Given the description of an element on the screen output the (x, y) to click on. 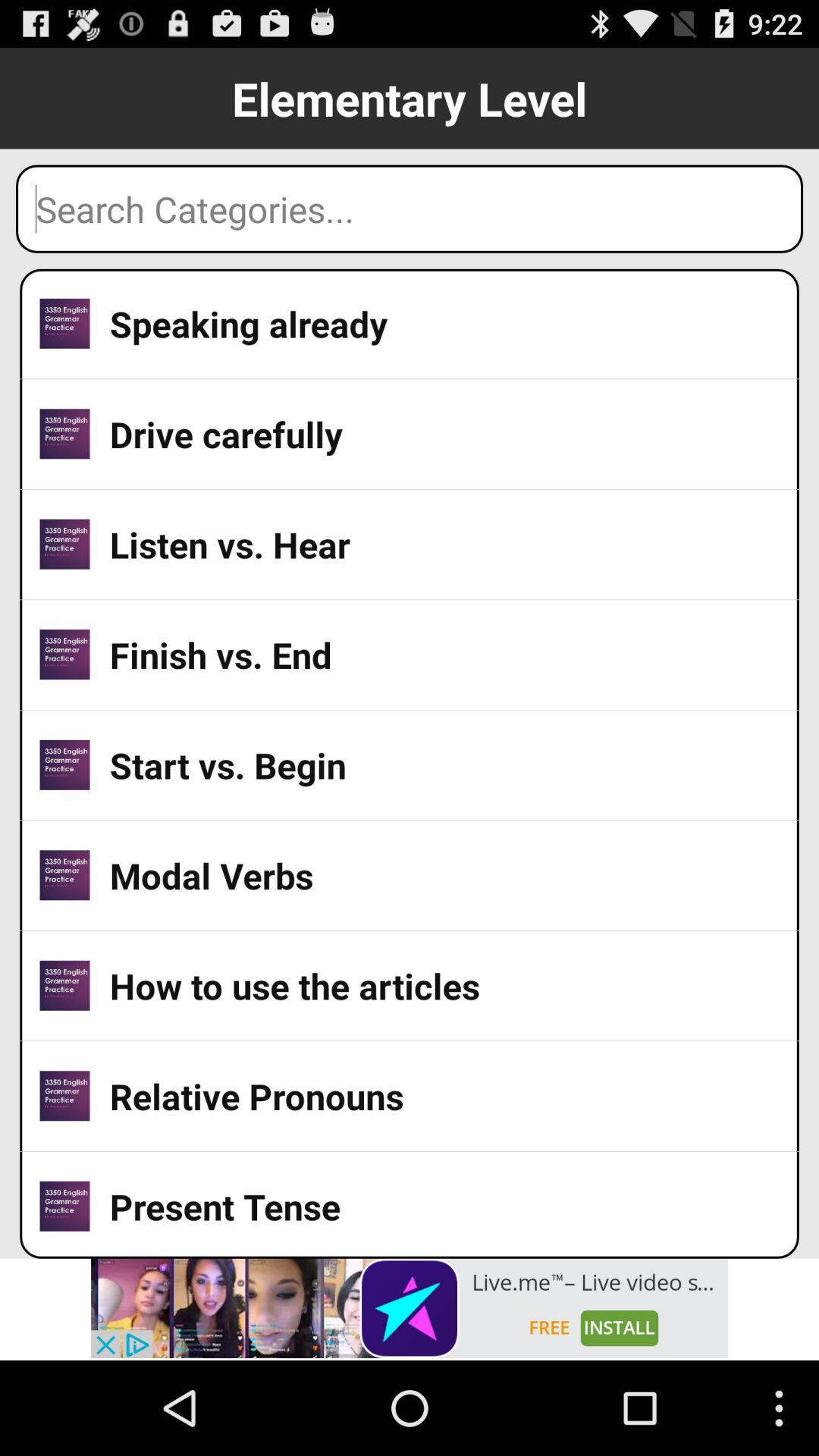
advertisement banner (409, 1308)
